Given the description of an element on the screen output the (x, y) to click on. 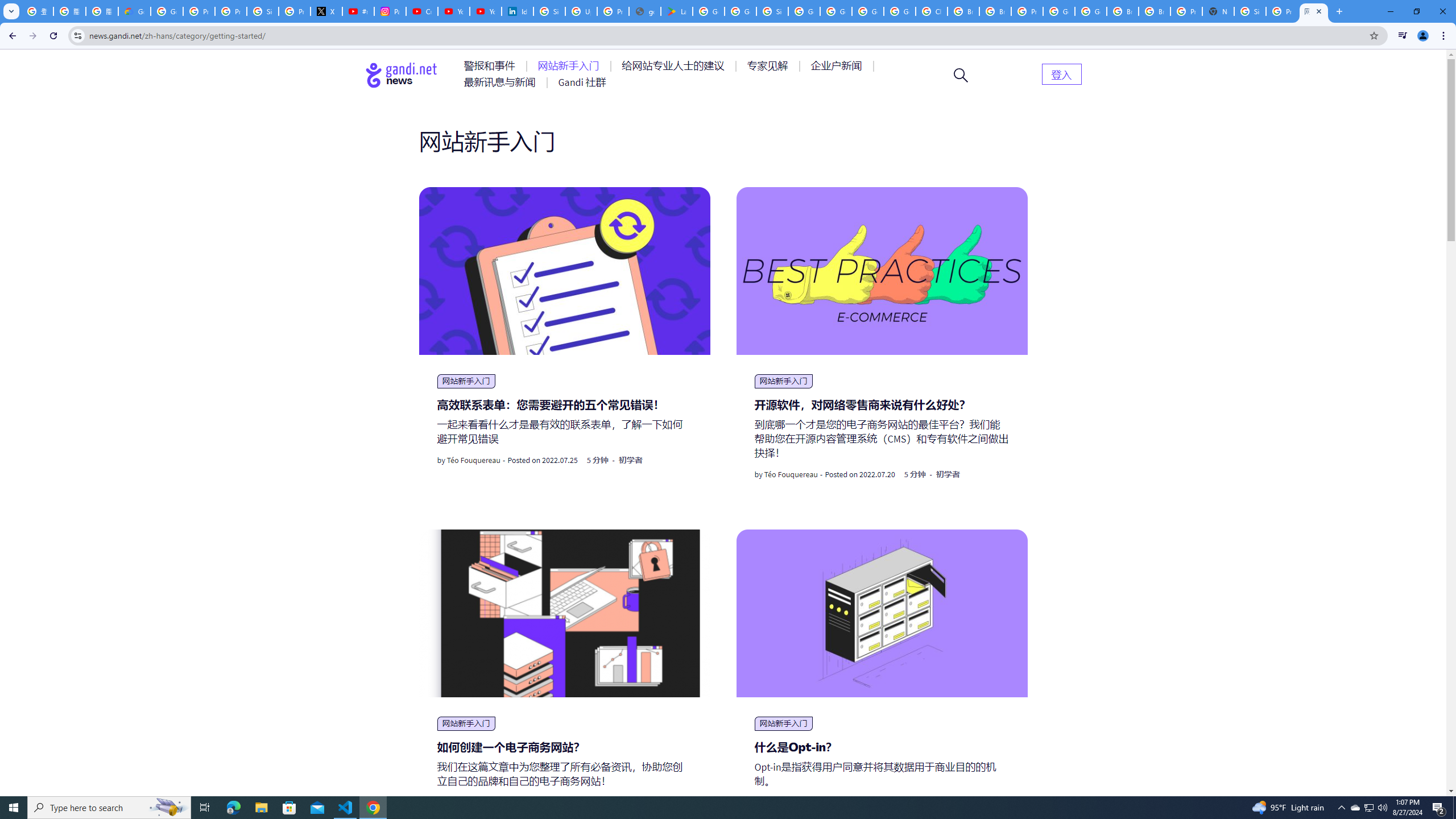
AutomationID: menu-item-77761 (492, 65)
New Tab (1217, 11)
AutomationID: menu-item-82399 (1061, 73)
